Given the description of an element on the screen output the (x, y) to click on. 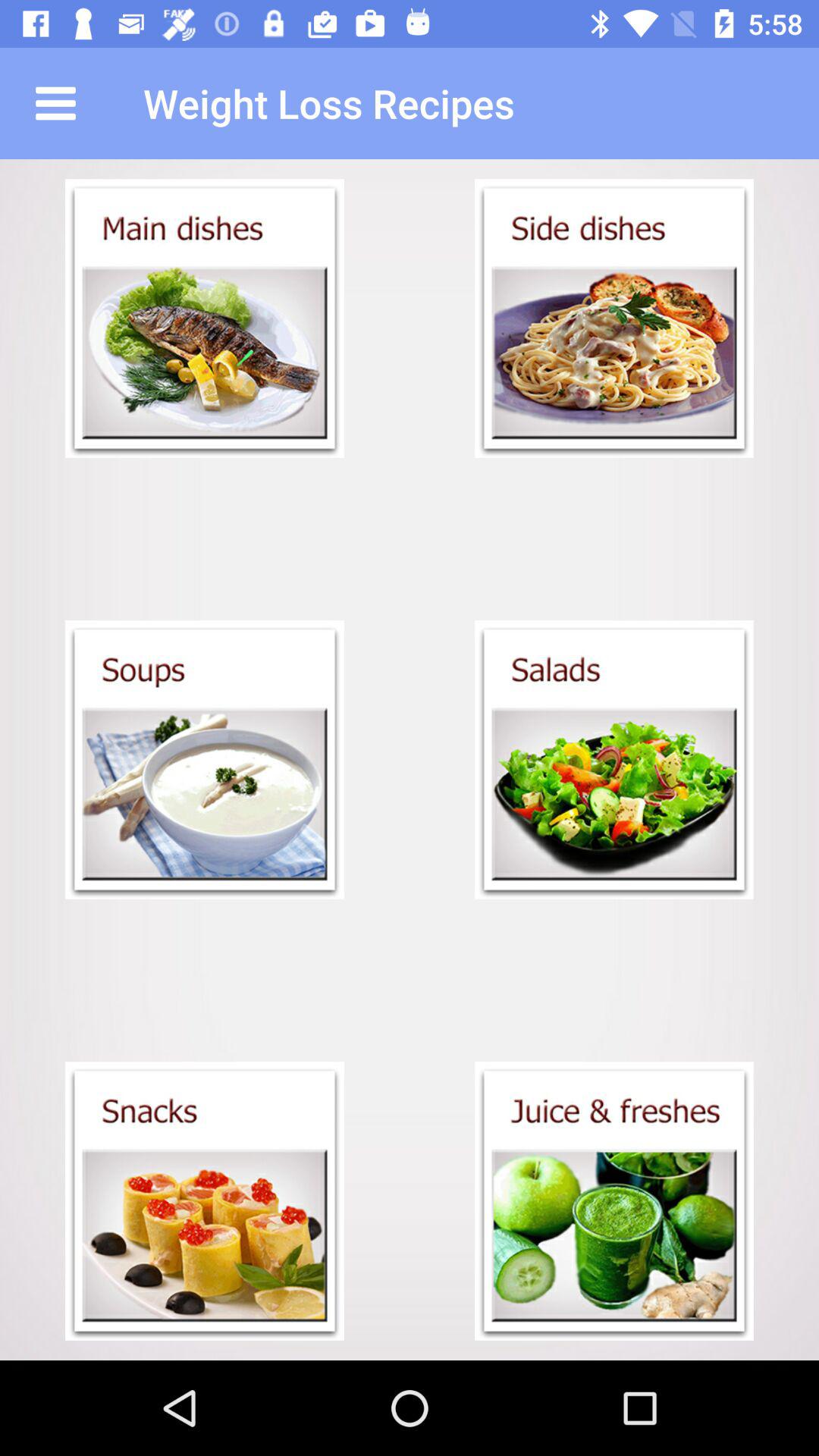
see snacks category (204, 1200)
